Given the description of an element on the screen output the (x, y) to click on. 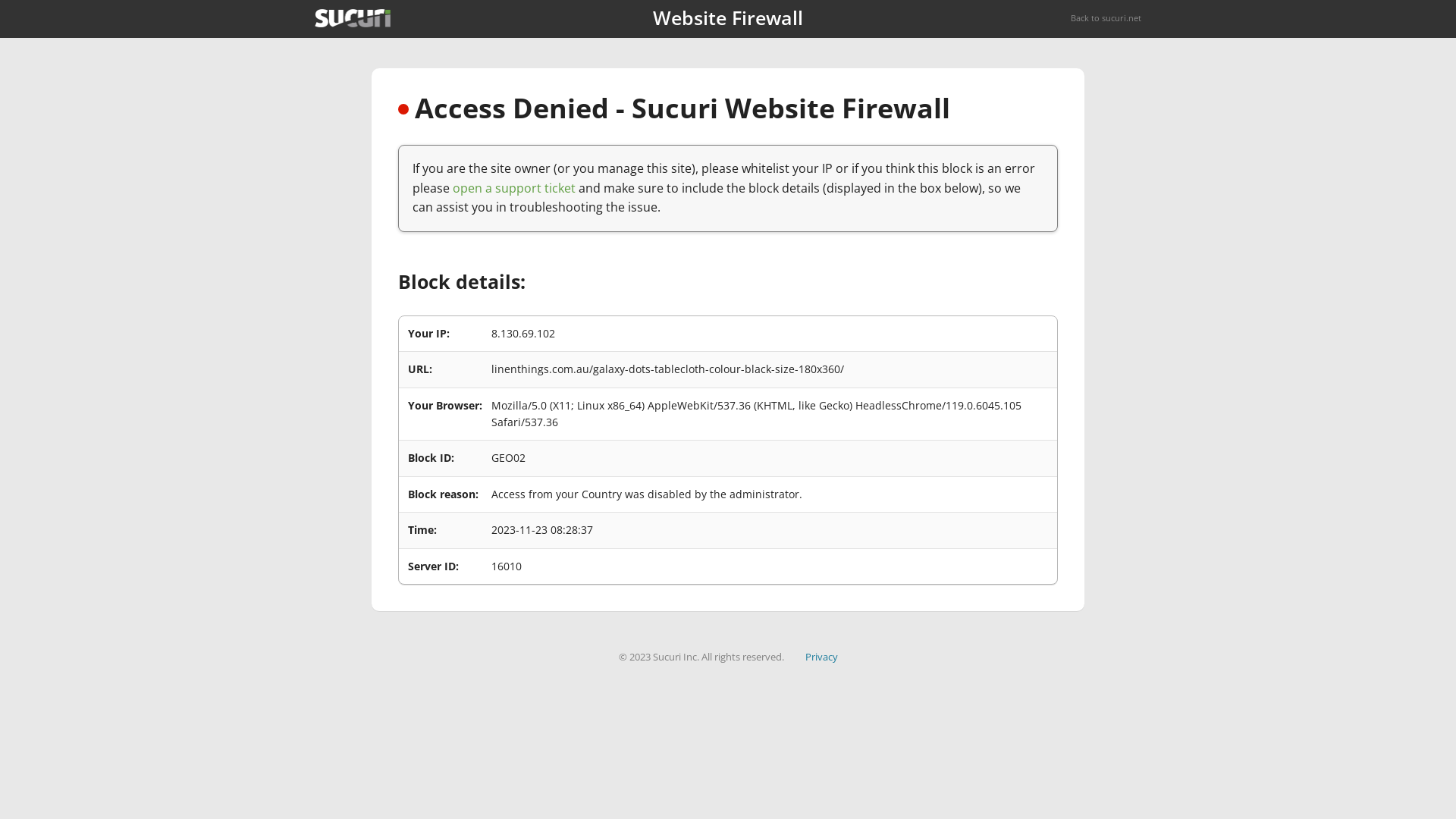
Privacy Element type: text (821, 656)
Back to sucuri.net Element type: text (1105, 18)
open a support ticket Element type: text (513, 187)
